Given the description of an element on the screen output the (x, y) to click on. 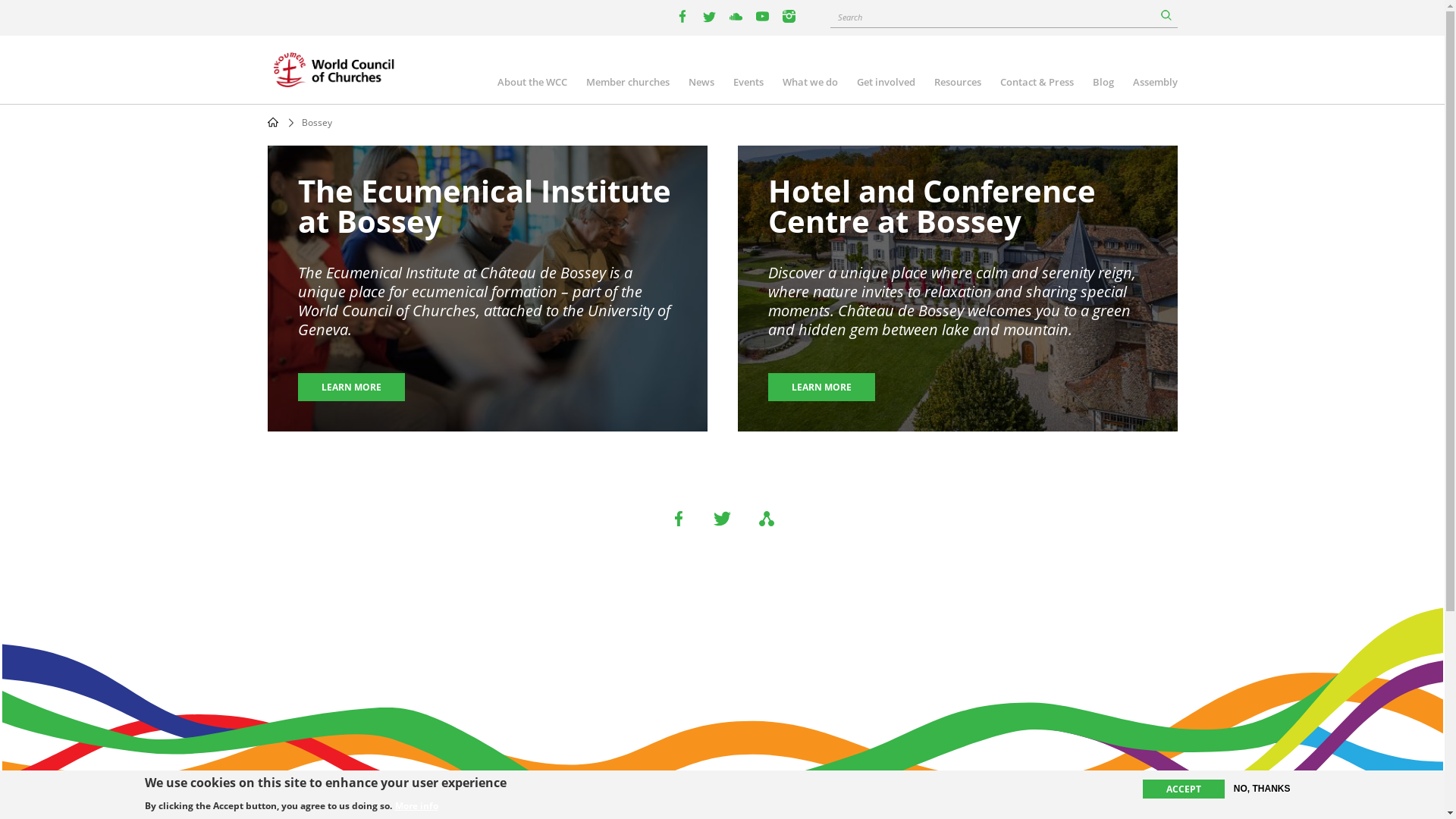
About the WCC Element type: text (532, 84)
Member churches Element type: text (626, 84)
facebook Element type: text (681, 16)
Assembly Element type: text (1154, 84)
Contact & Press Element type: text (1036, 84)
More info Element type: text (415, 805)
instagram Element type: text (788, 16)
Get involved Element type: text (885, 84)
Events Element type: text (747, 84)
youtube Element type: text (762, 16)
Home Element type: text (271, 121)
Search Element type: text (1165, 14)
youtube Element type: text (734, 16)
LEARN MORE Element type: text (350, 387)
twitter Element type: text (709, 16)
ACCEPT Element type: text (1183, 789)
NO, THANKS Element type: text (1261, 789)
Resources Element type: text (957, 84)
LEARN MORE Element type: text (820, 387)
News Element type: text (701, 84)
Blog Element type: text (1102, 84)
(en) Image for Photos: Bossey-WoTo-2019-2 Element type: hover (486, 288)
Skip to main content Element type: text (0, 0)
What we do Element type: text (809, 84)
